Given the description of an element on the screen output the (x, y) to click on. 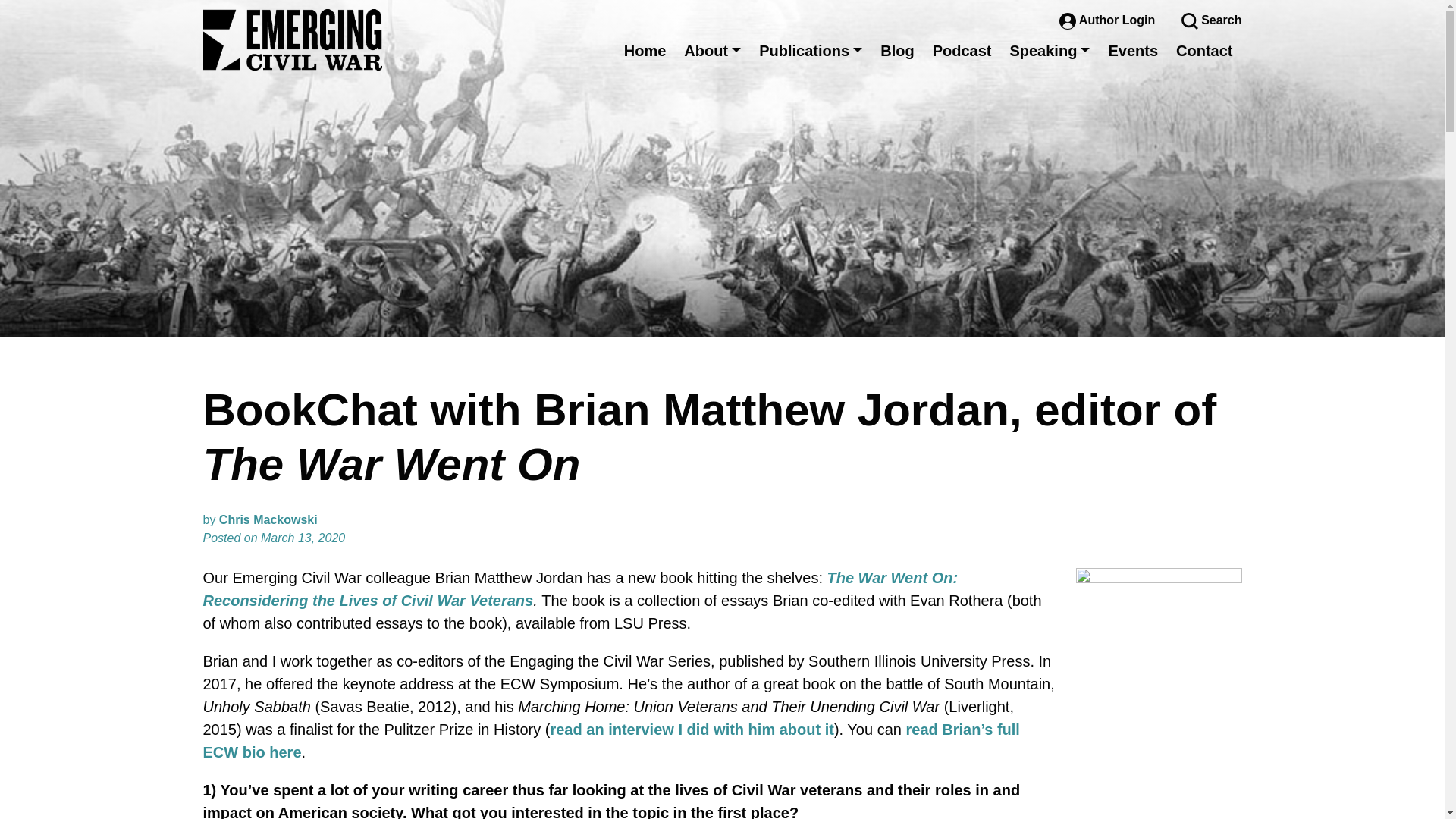
Publications (809, 50)
Events (1133, 50)
About (712, 50)
Home (644, 50)
Author Login (1108, 19)
Speaking (1049, 50)
Search (1210, 19)
Chris Mackowski (268, 519)
Blog (896, 50)
Podcast (962, 50)
Contact (1204, 50)
read an interview I did with him about it (691, 729)
